Given the description of an element on the screen output the (x, y) to click on. 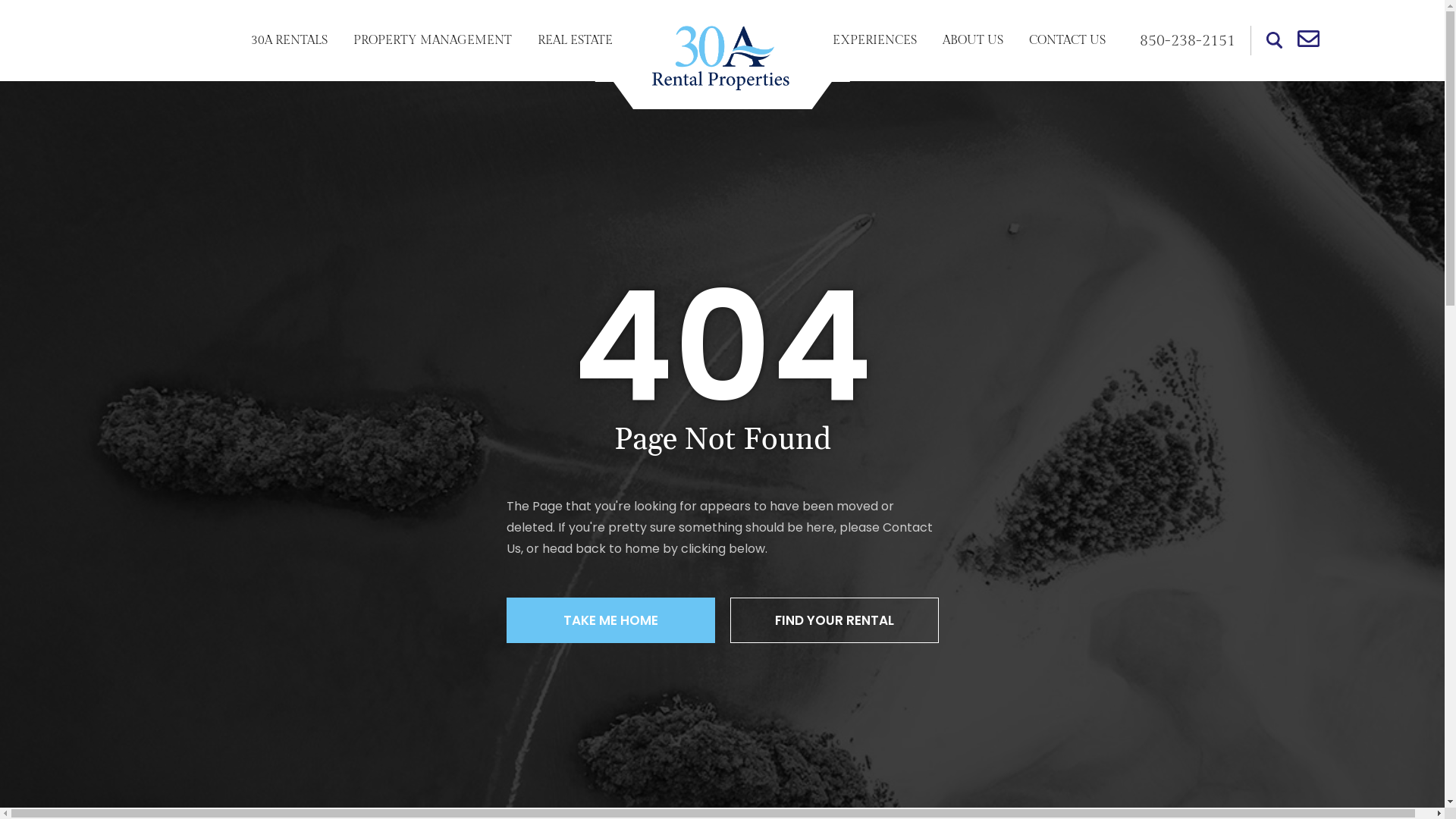
FIND YOUR RENTAL Element type: text (833, 620)
EXPERIENCES Element type: text (873, 40)
TAKE ME HOME Element type: text (610, 620)
REAL ESTATE Element type: text (575, 40)
CONTACT US Element type: text (1067, 40)
850-238-2151 Element type: text (1186, 40)
30A RENTALS Element type: text (288, 40)
Contact Us Element type: text (719, 537)
PROPERTY MANAGEMENT Element type: text (431, 40)
ABOUT US Element type: text (972, 40)
